Given the description of an element on the screen output the (x, y) to click on. 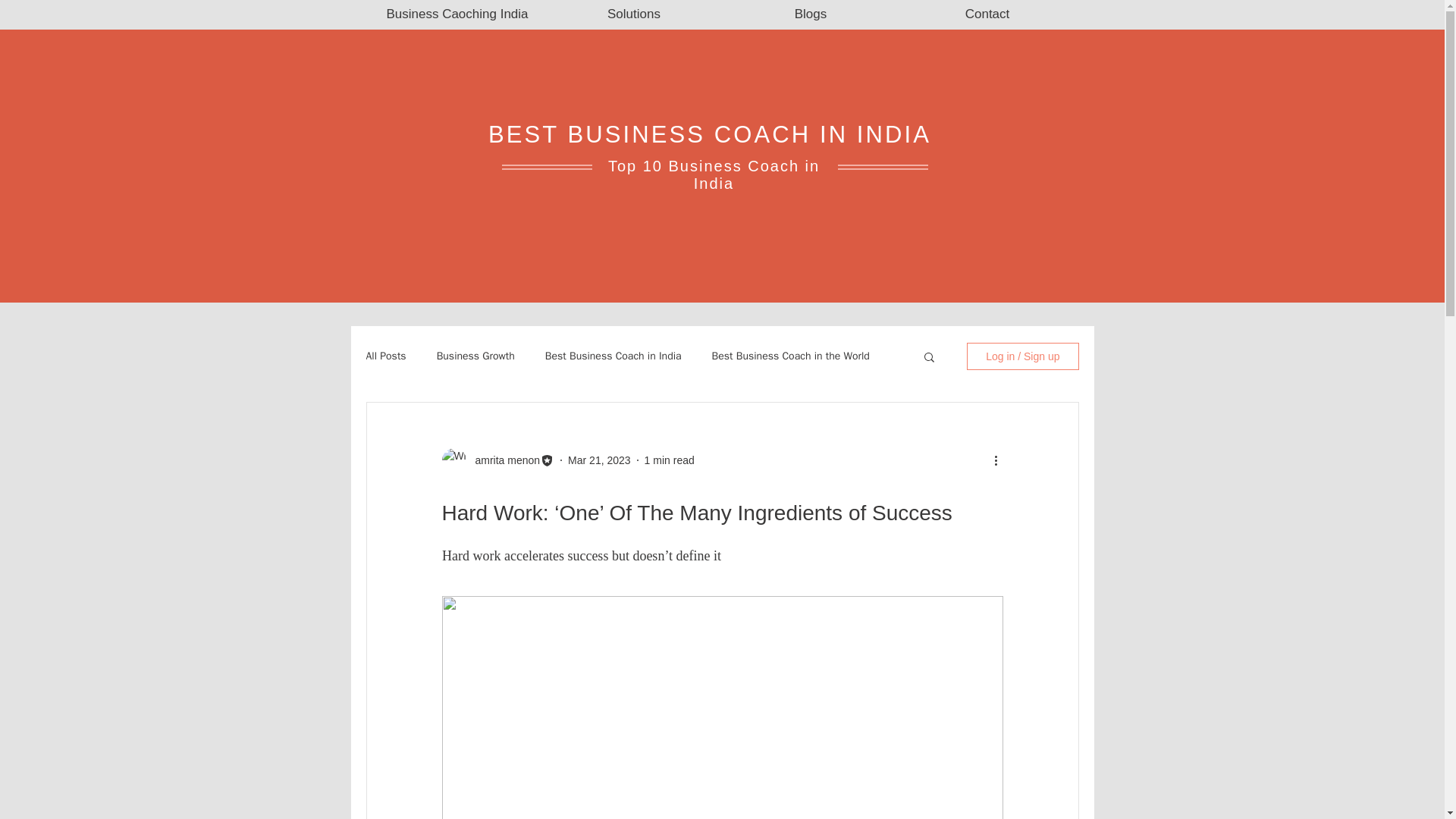
Best Business Coach in India (612, 356)
Business Growth (475, 356)
Business Caoching India (456, 14)
Mar 21, 2023 (598, 459)
1 min read (669, 459)
Contact (987, 14)
BEST BUSINESS COACH IN INDIA (709, 134)
All Posts (385, 356)
Blogs (810, 14)
Top 10 Business Coach in India (713, 174)
